Given the description of an element on the screen output the (x, y) to click on. 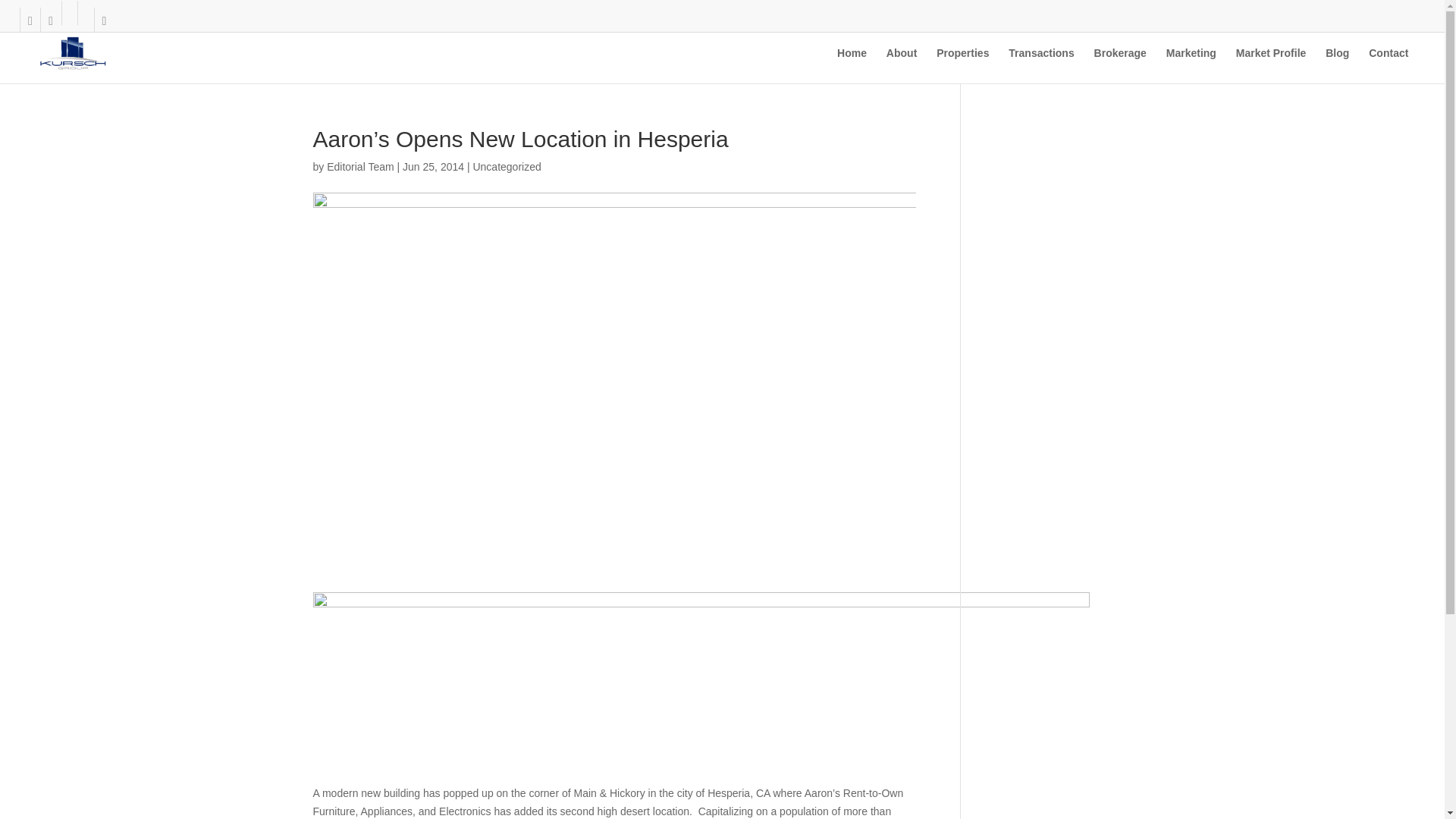
WP Harbor (149, 783)
Editorial Team (359, 166)
Market Profile (1271, 65)
Posts by Editorial Team (359, 166)
Marketing (1190, 65)
Transactions (1041, 65)
Brokerage (1120, 65)
Contact (1387, 65)
Uncategorized (505, 166)
Properties (962, 65)
